Given the description of an element on the screen output the (x, y) to click on. 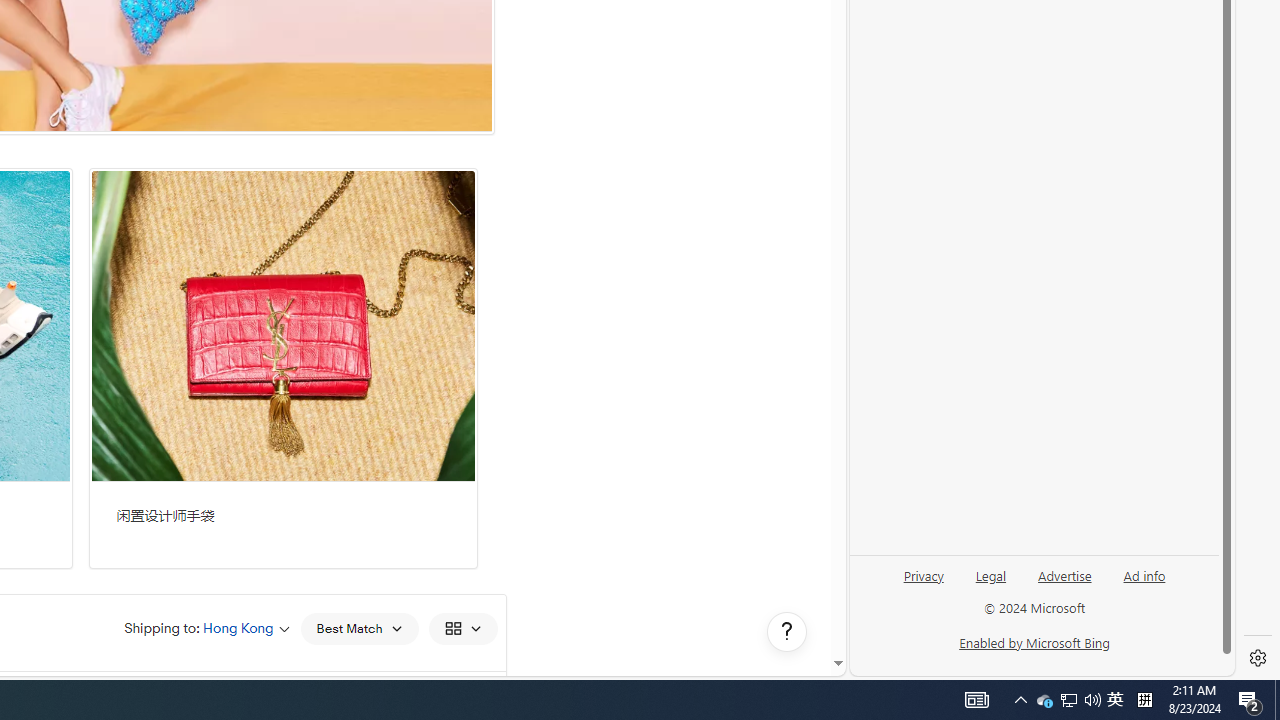
Sort: Best Match (358, 628)
View: Gallery View (462, 628)
Shipping to: Hong Kong (207, 628)
Help, opens dialogs (787, 632)
